Given the description of an element on the screen output the (x, y) to click on. 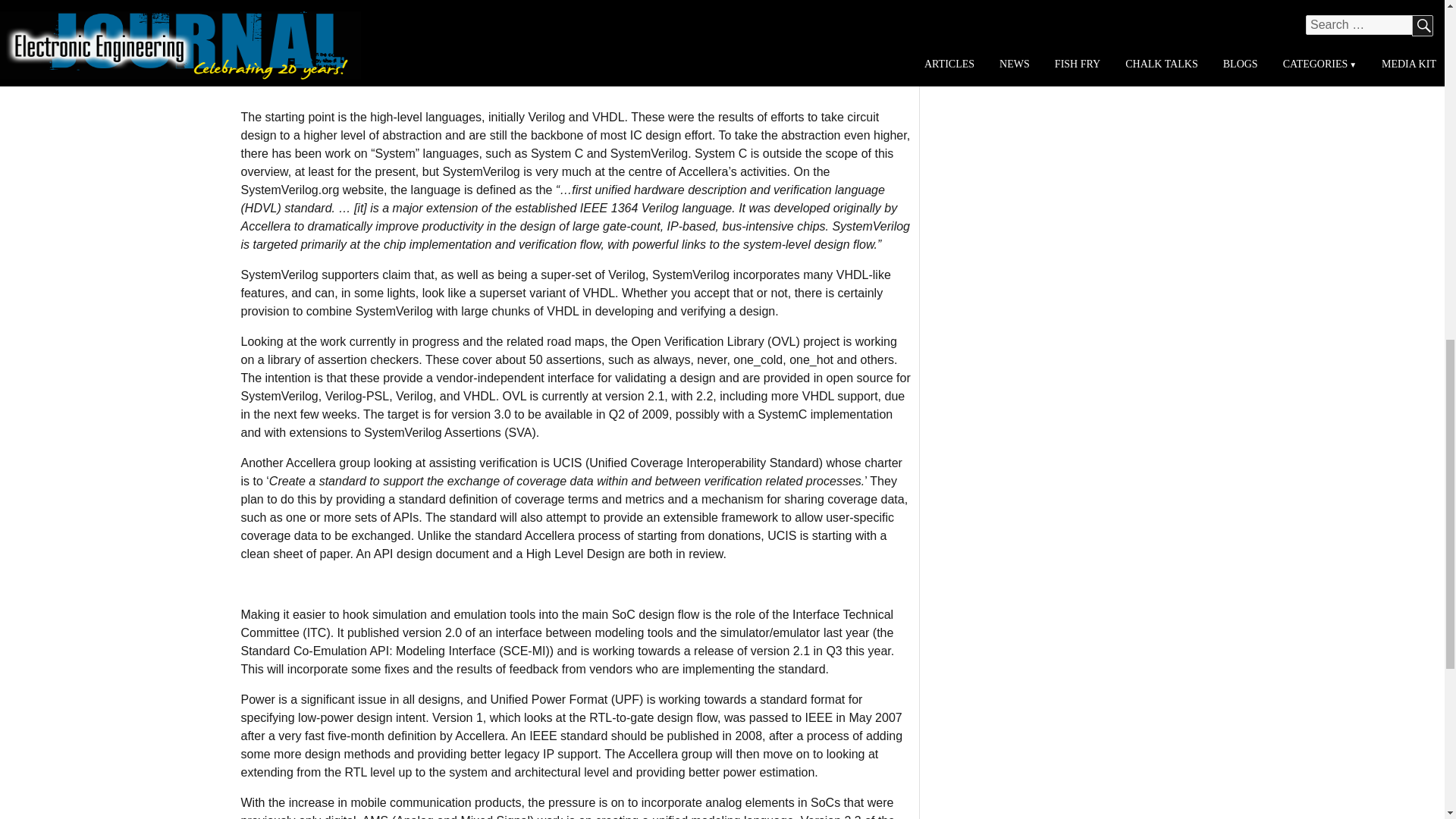
www.accellera.org (294, 4)
